Given the description of an element on the screen output the (x, y) to click on. 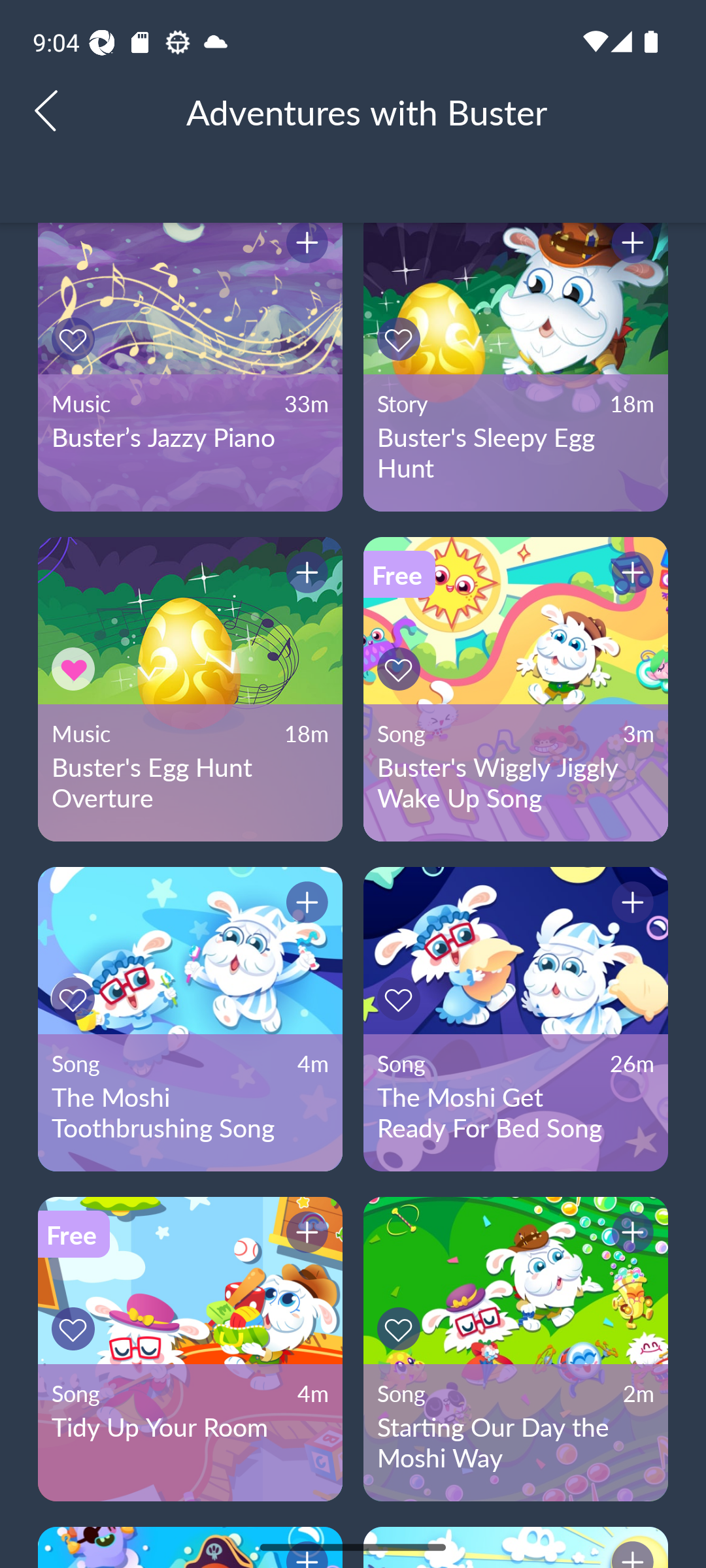
Button (304, 244)
Button (629, 244)
Button (76, 338)
Button (401, 338)
Button (304, 574)
Button (629, 574)
Button (76, 668)
Button (401, 668)
Button (304, 905)
Button (629, 905)
Button (76, 998)
Button (401, 998)
Button (304, 1234)
Button (629, 1234)
Button (76, 1328)
Button (401, 1328)
